Given the description of an element on the screen output the (x, y) to click on. 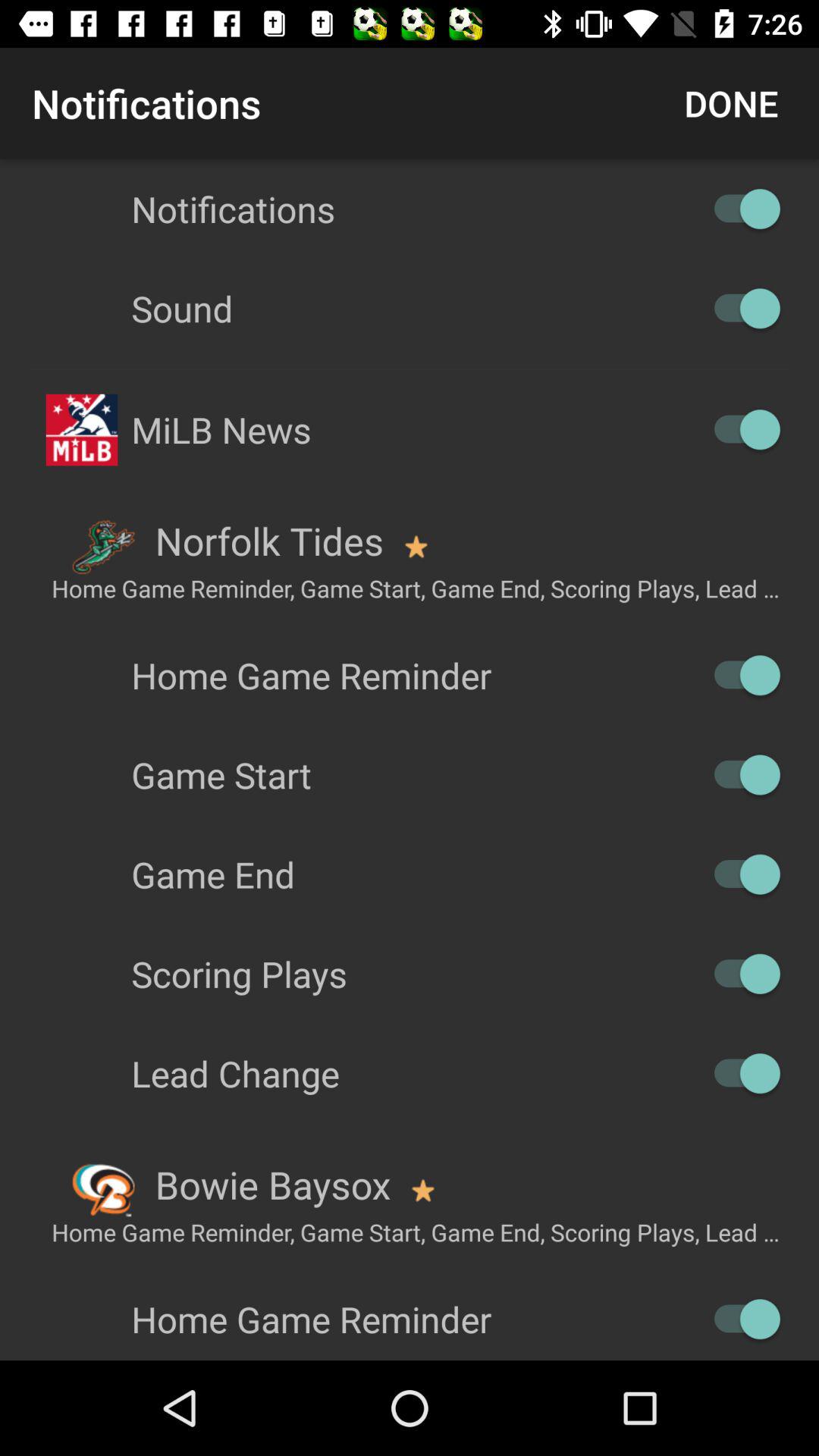
toggle reminder for home games (739, 1319)
